Given the description of an element on the screen output the (x, y) to click on. 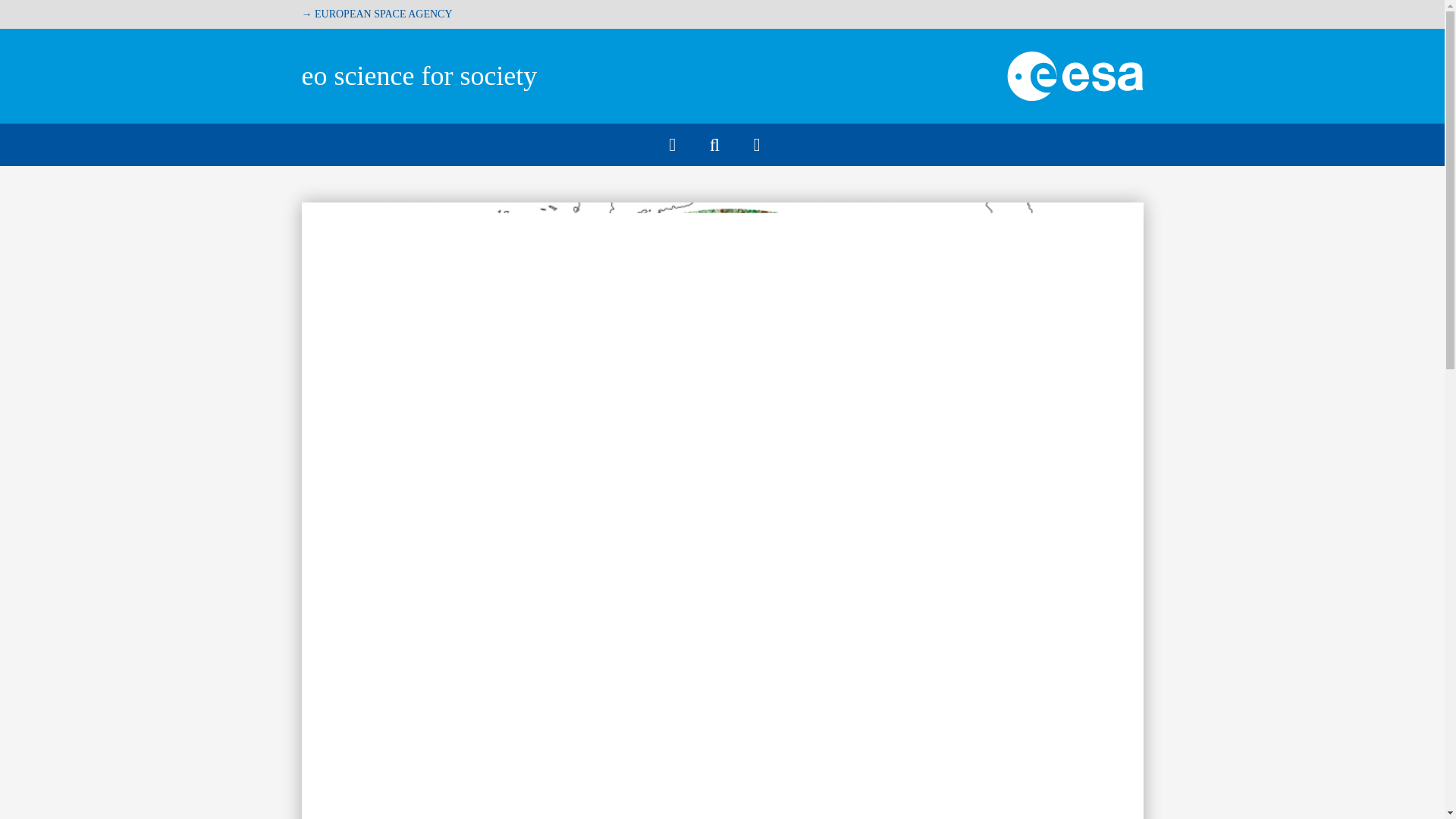
eo science for society (419, 75)
